Given the description of an element on the screen output the (x, y) to click on. 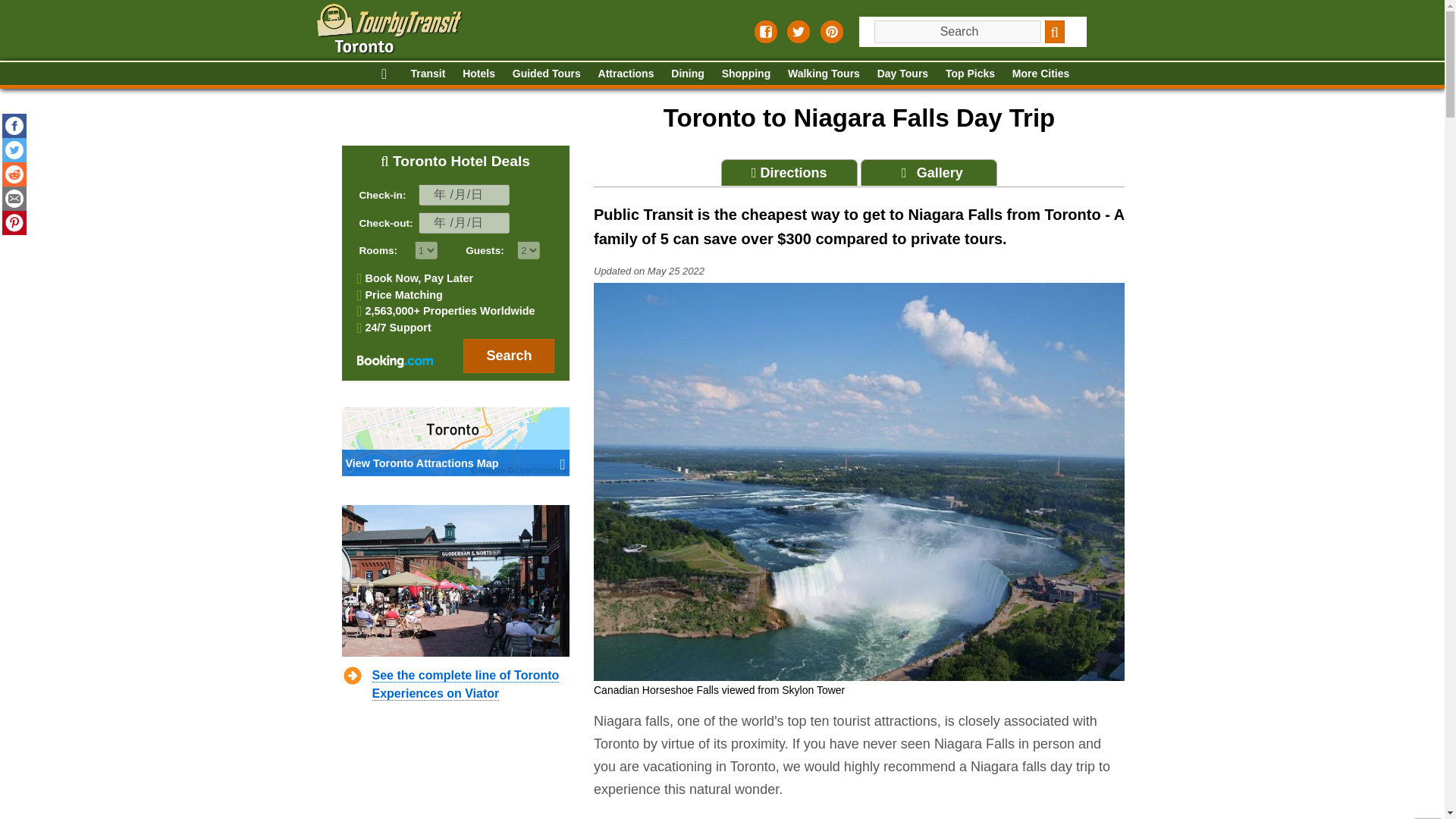
DuckDuckGo Search (1055, 31)
Guided Tours (546, 73)
Transit (427, 73)
Search (1055, 31)
Top Picks (969, 73)
Day Tours (902, 73)
Attractions (626, 73)
More Cities (1040, 73)
Shopping (745, 73)
Walking Tours (823, 73)
